Given the description of an element on the screen output the (x, y) to click on. 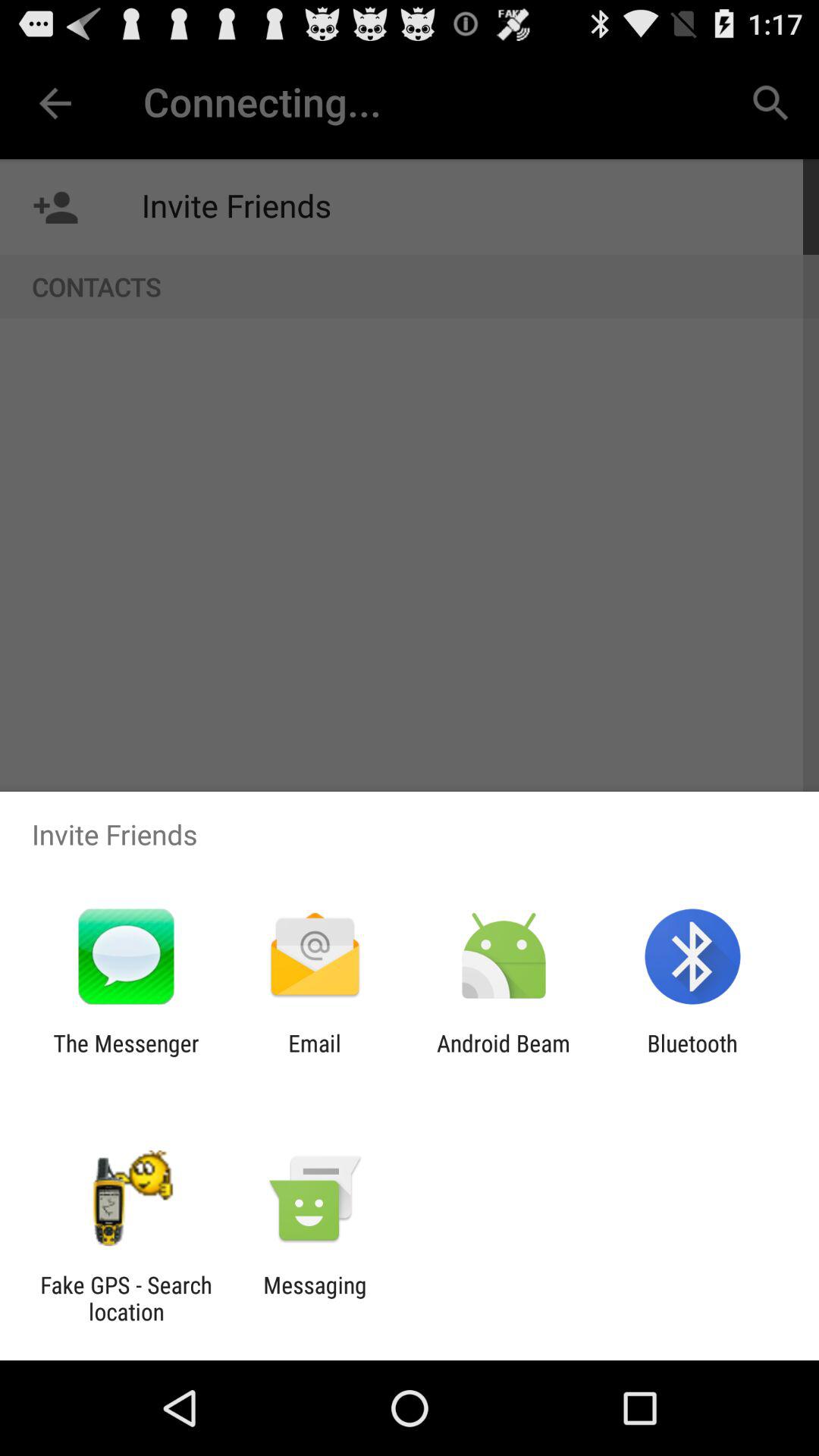
tap item next to messaging icon (125, 1298)
